Given the description of an element on the screen output the (x, y) to click on. 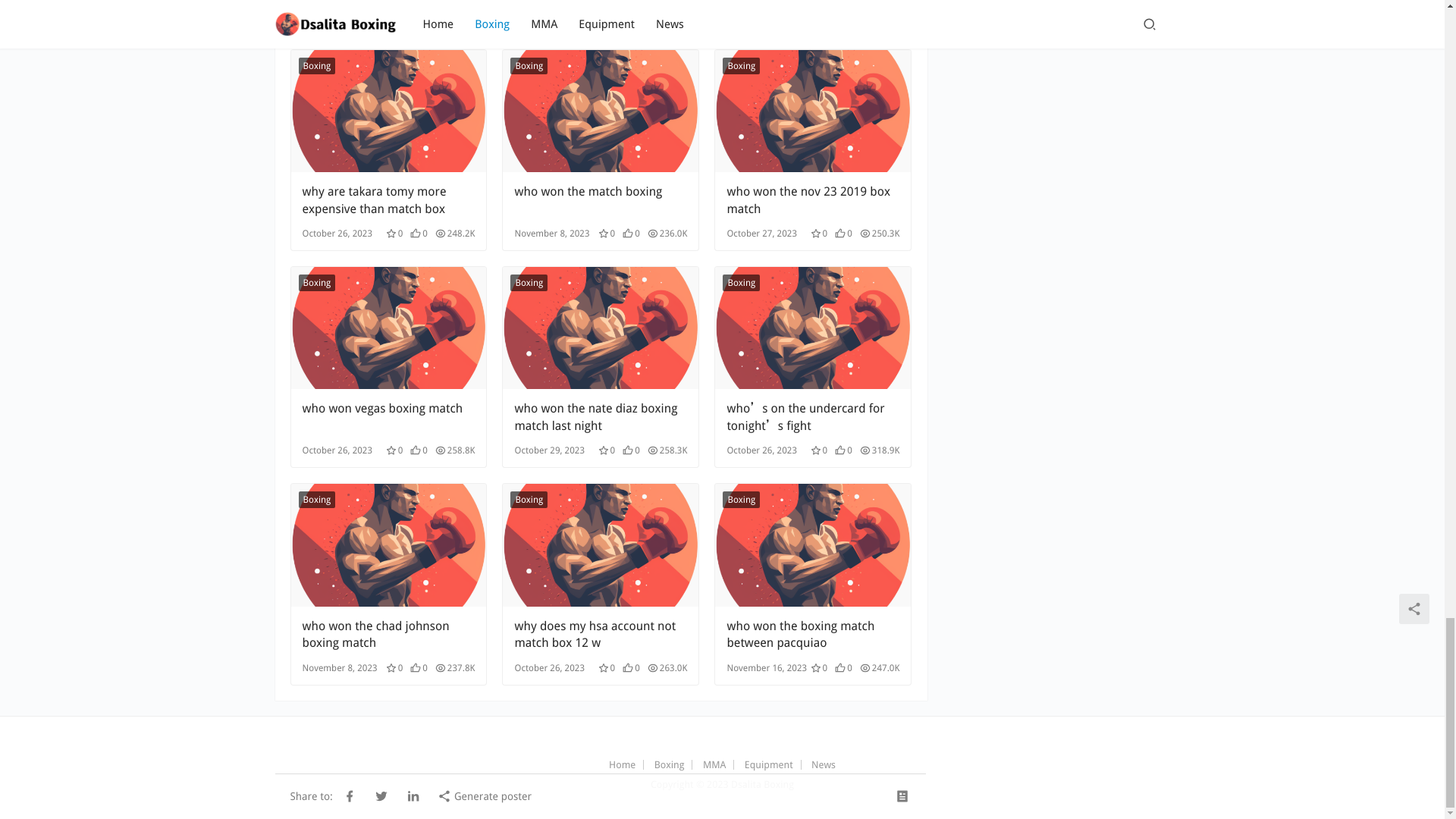
who won vegas boxing match (387, 417)
Boxing (317, 65)
who won the nate diaz boxing match last night (600, 327)
who won the nov 23 2019 box match (812, 110)
why are takara tomy more expensive than match box (388, 110)
Boxing (317, 282)
who won vegas boxing match (388, 327)
who won the nate diaz boxing match last night (600, 417)
Boxing (741, 65)
Boxing (529, 65)
who won the nov 23 2019 box match (812, 200)
who won the match boxing (600, 200)
who won the match boxing (600, 110)
why are takara tomy more expensive than match box (387, 200)
why are takara tomy more expensive than match box (387, 200)
